Given the description of an element on the screen output the (x, y) to click on. 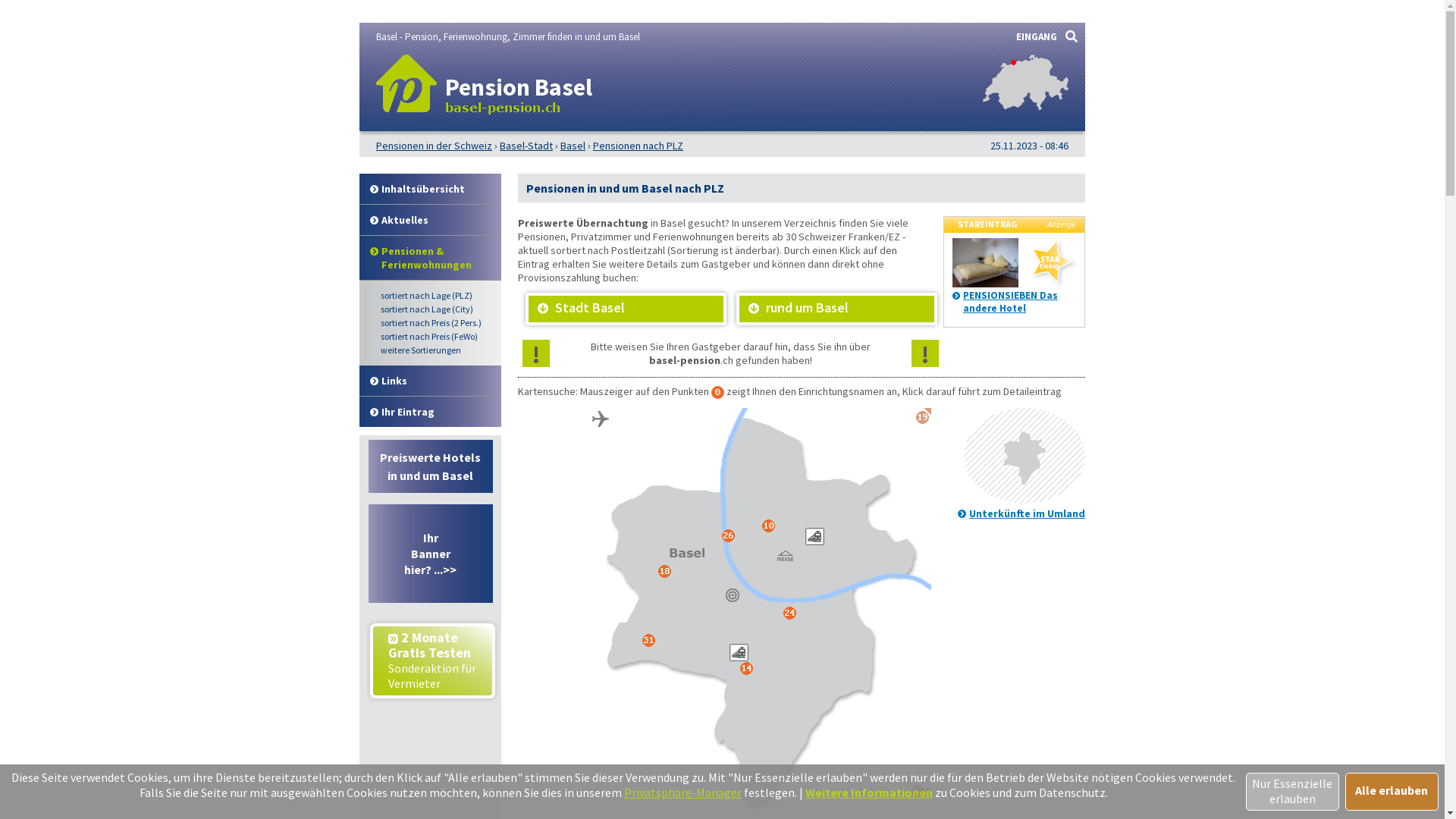
PENSIONSIEBEN Das
andere Hotel Element type: text (1010, 301)
Preiswerte Hotels
in und um Basel Element type: text (430, 465)
Pensionen nach PLZ Element type: text (638, 145)
Pensionen in der Schweiz Element type: text (434, 145)
Ihr
Banner
hier? ...>> Element type: text (430, 553)
Links Element type: text (430, 380)
sortiert nach Preis (FeWo) Element type: text (436, 336)
Aktuelles Element type: text (430, 219)
weitere Sortierungen Element type: text (436, 350)
Basel Element type: text (572, 145)
sortiert nach Preis (2 Pers.) Element type: text (436, 322)
EINGANG Element type: text (1036, 36)
sortiert nach Lage (City) Element type: text (436, 309)
Basel-Stadt Element type: text (525, 145)
Zur Umgebung Basel Element type: hover (1024, 499)
preiswerte Gastgeber in der Schweiz via Landkarte finden Element type: hover (1025, 106)
Nur Essenzielle erlauben Element type: text (1291, 791)
Weitere Informationen Element type: text (868, 792)
sortiert nach Lage (PLZ) Element type: text (436, 295)
Ihr Eintrag Element type: text (430, 411)
Alle erlauben Element type: text (1391, 791)
Pensionen &
Ferienwohnungen Element type: text (430, 257)
